Given the description of an element on the screen output the (x, y) to click on. 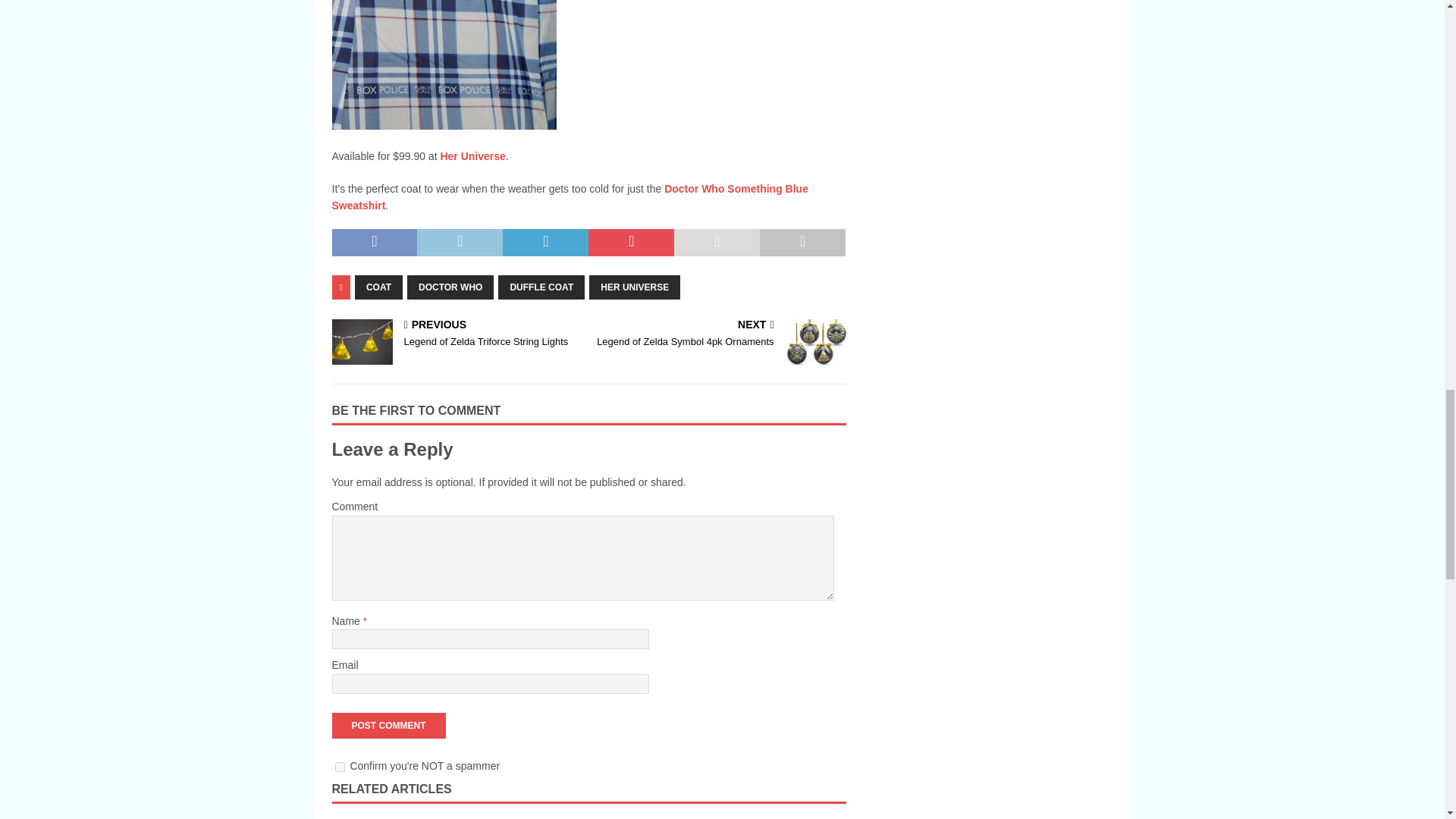
on (339, 767)
Post Comment (388, 725)
